Given the description of an element on the screen output the (x, y) to click on. 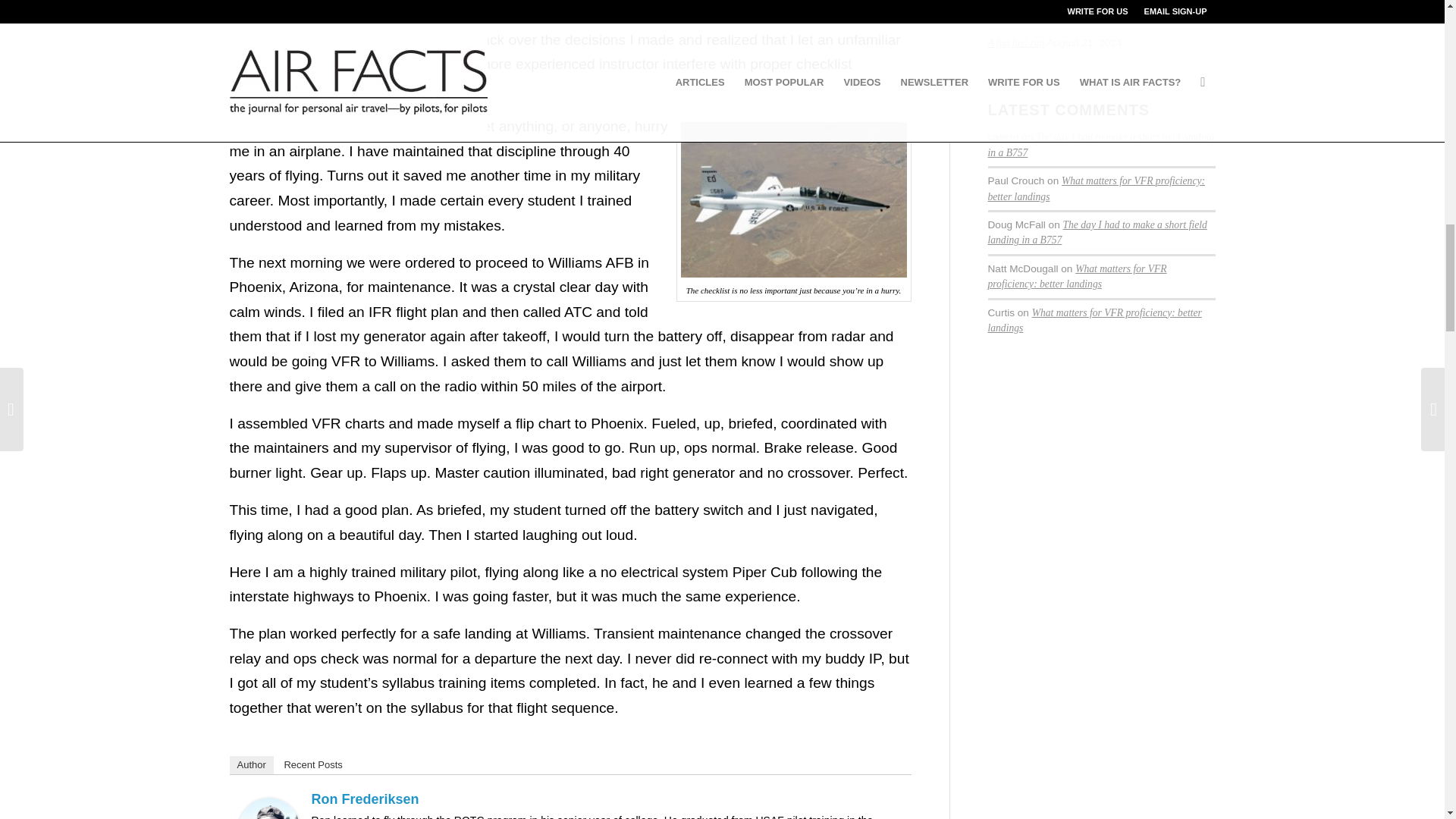
Ron Frederiksen (365, 798)
Author (250, 764)
Recent Posts (312, 764)
